Given the description of an element on the screen output the (x, y) to click on. 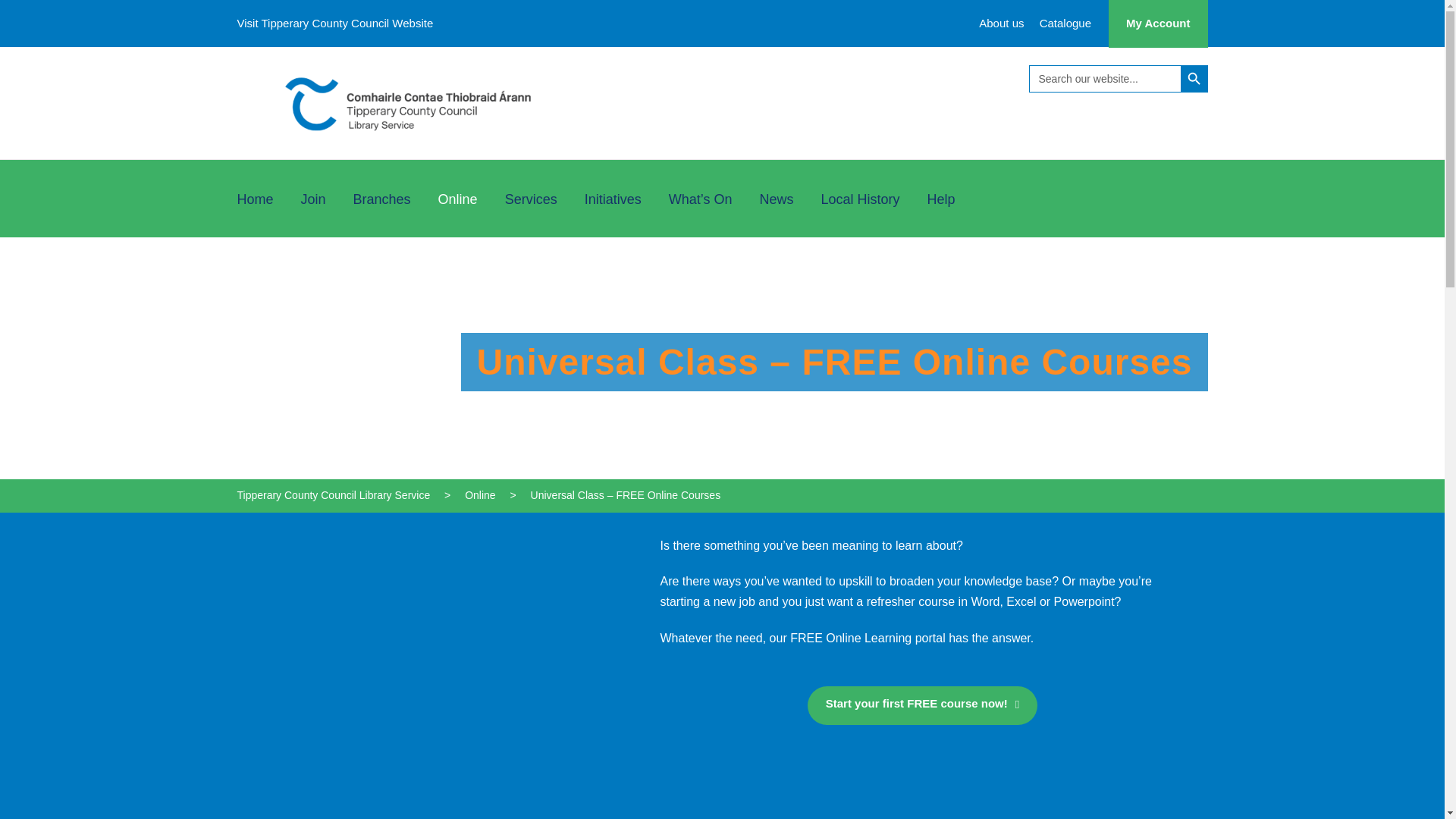
Go to Tipperary County Council Library Service. (332, 494)
Tipp Library Service Logo (407, 101)
Go to Online. (479, 494)
